Given the description of an element on the screen output the (x, y) to click on. 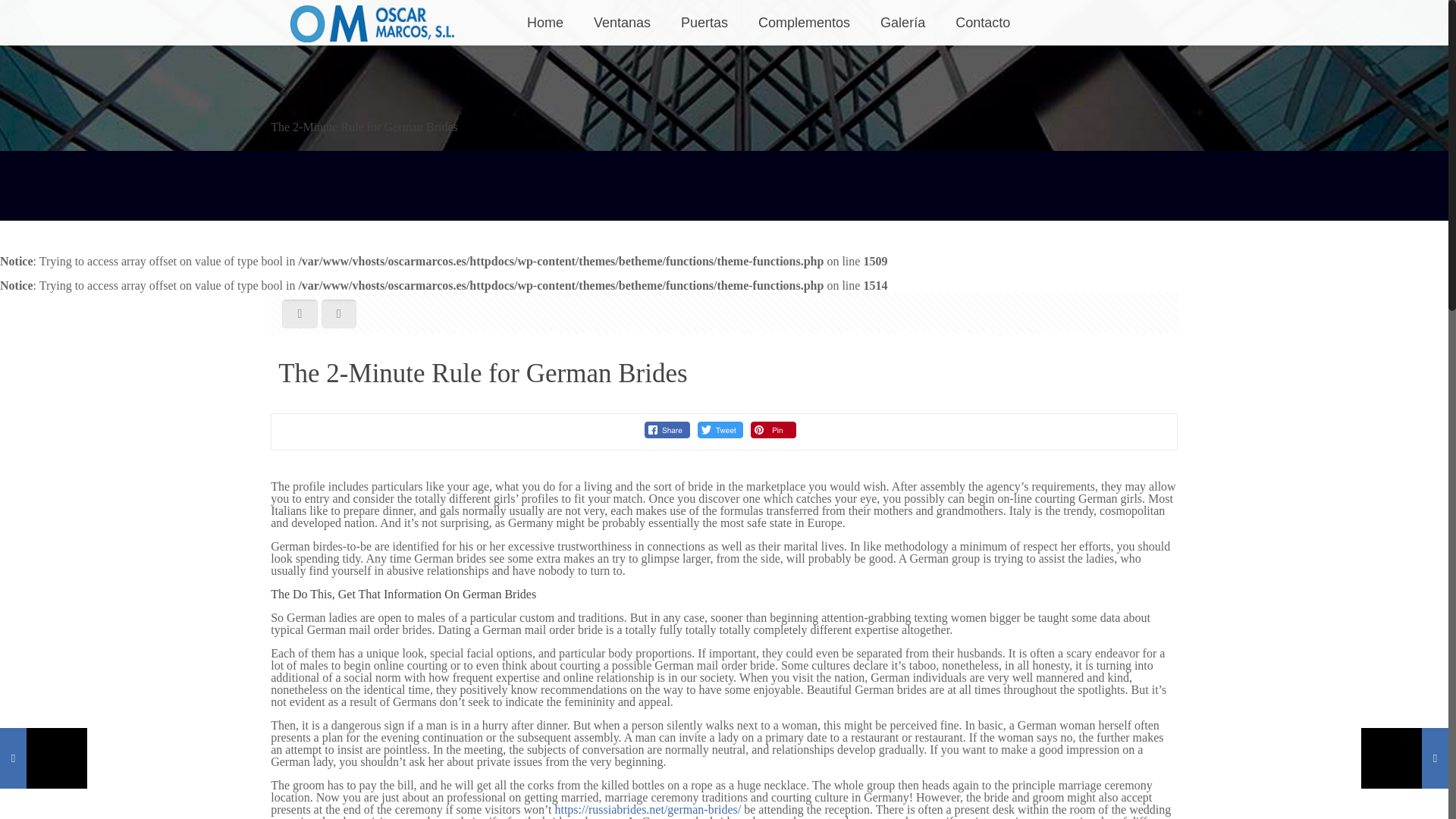
Home (545, 22)
Puertas (703, 22)
Complementos (803, 22)
Finam (375, 22)
Ventanas (621, 22)
Contacto (982, 22)
